Given the description of an element on the screen output the (x, y) to click on. 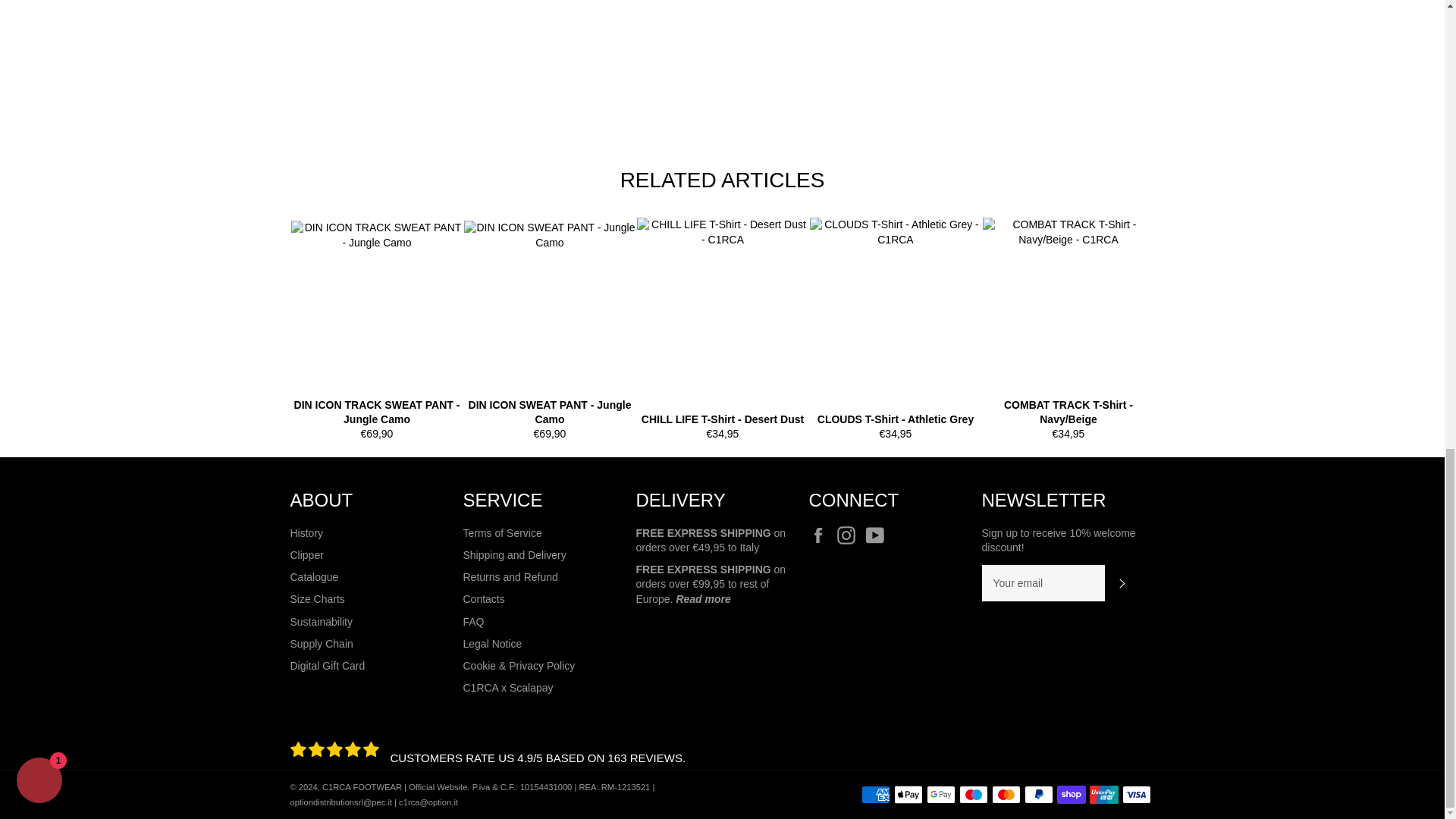
Apple Pay (907, 794)
American Express (875, 794)
Shipping Policy (702, 598)
Maestro (972, 794)
PayPal (1037, 794)
Google Pay (940, 794)
Mastercard (1005, 794)
